Given the description of an element on the screen output the (x, y) to click on. 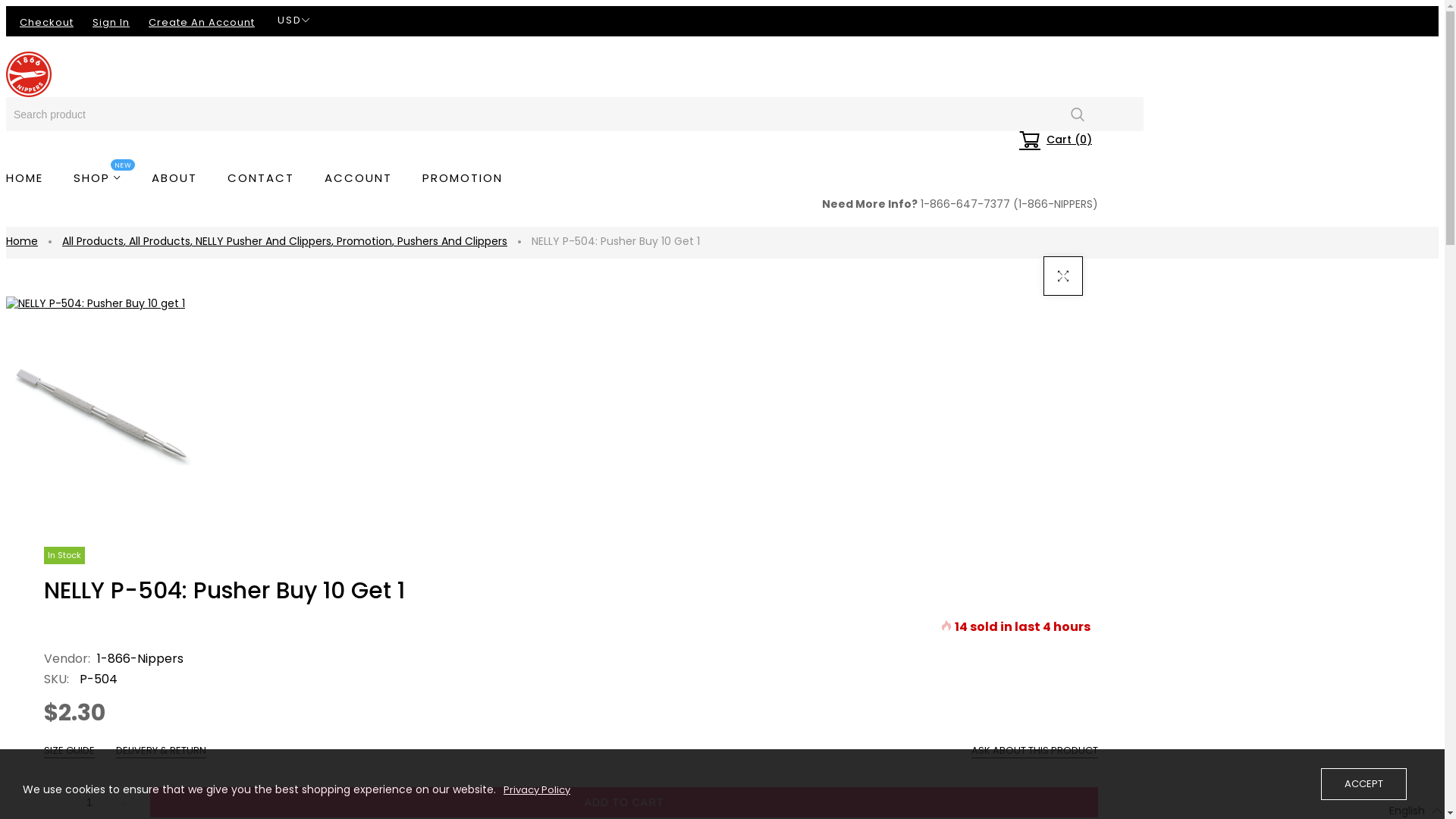
Create An Account Element type: text (201, 22)
Home Element type: text (21, 240)
HOME Element type: text (31, 178)
DELIVERY & RETURN Element type: text (161, 750)
Pushers And Clippers Element type: text (452, 240)
ACCOUNT Element type: text (357, 178)
Search Element type: text (1077, 114)
All Products, Element type: text (161, 240)
ABOUT Element type: text (174, 178)
Privacy Policy Element type: text (534, 789)
NELLY Pusher And Clippers, Element type: text (265, 240)
Checkout Element type: text (46, 22)
SIZE GUIDE Element type: text (68, 750)
CONTACT Element type: text (260, 178)
ASK ABOUT THIS PRODUCT Element type: text (1034, 750)
All Products, Element type: text (95, 240)
ADD TO CART Element type: text (624, 802)
Cart (0) Element type: text (1055, 139)
Promotion, Element type: text (366, 240)
SHOP
NEW Element type: text (96, 178)
Sign In Element type: text (110, 22)
PROMOTION Element type: text (462, 178)
